Given the description of an element on the screen output the (x, y) to click on. 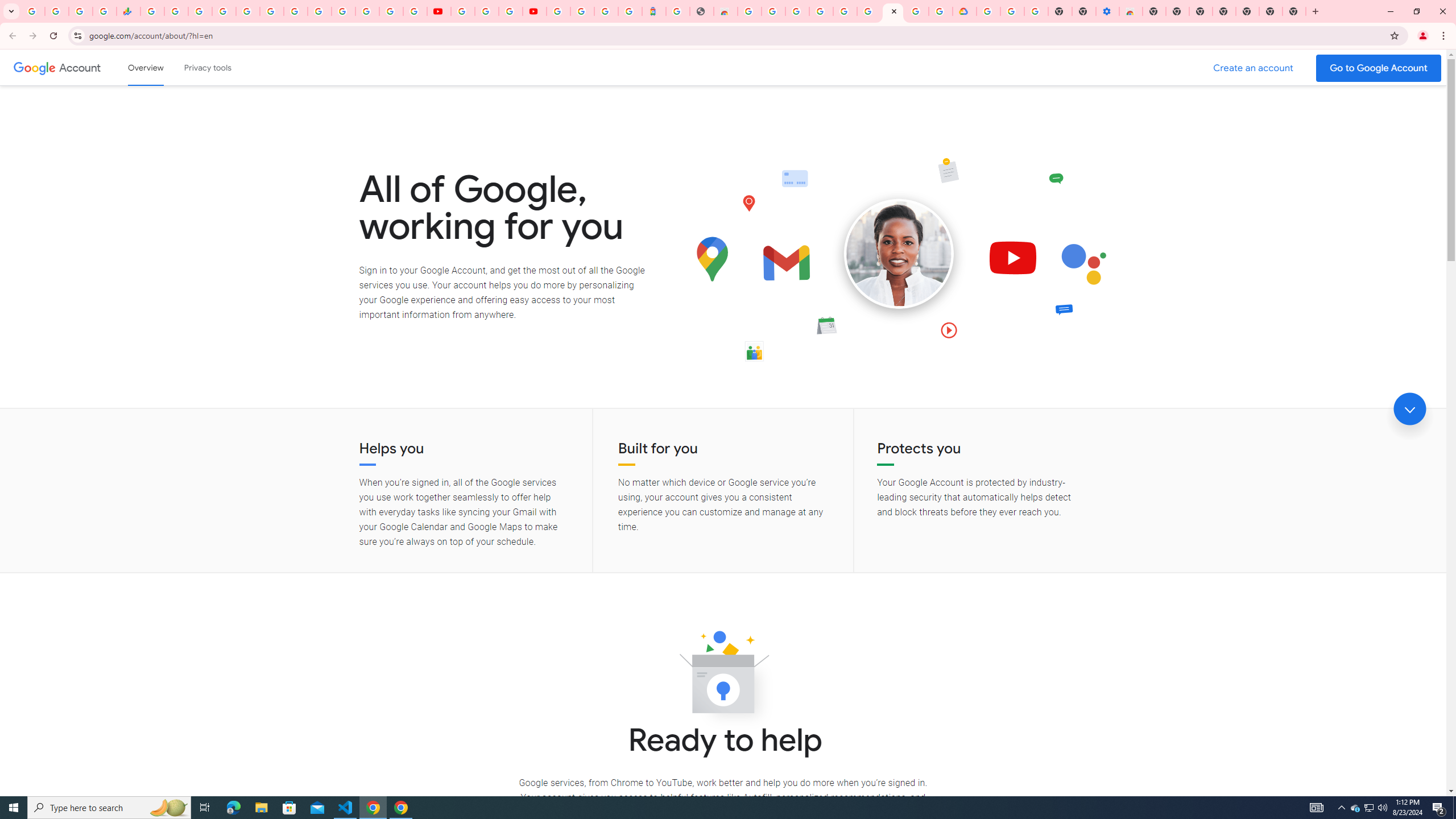
Turn cookies on or off - Computer - Google Account Help (1035, 11)
Content Creator Programs & Opportunities - YouTube Creators (533, 11)
Privacy Checkup (414, 11)
Google logo (34, 67)
Go to your Google Account (1378, 67)
Ready to help (722, 675)
Sign in - Google Accounts (558, 11)
Sign in - Google Accounts (820, 11)
YouTube (462, 11)
